Given the description of an element on the screen output the (x, y) to click on. 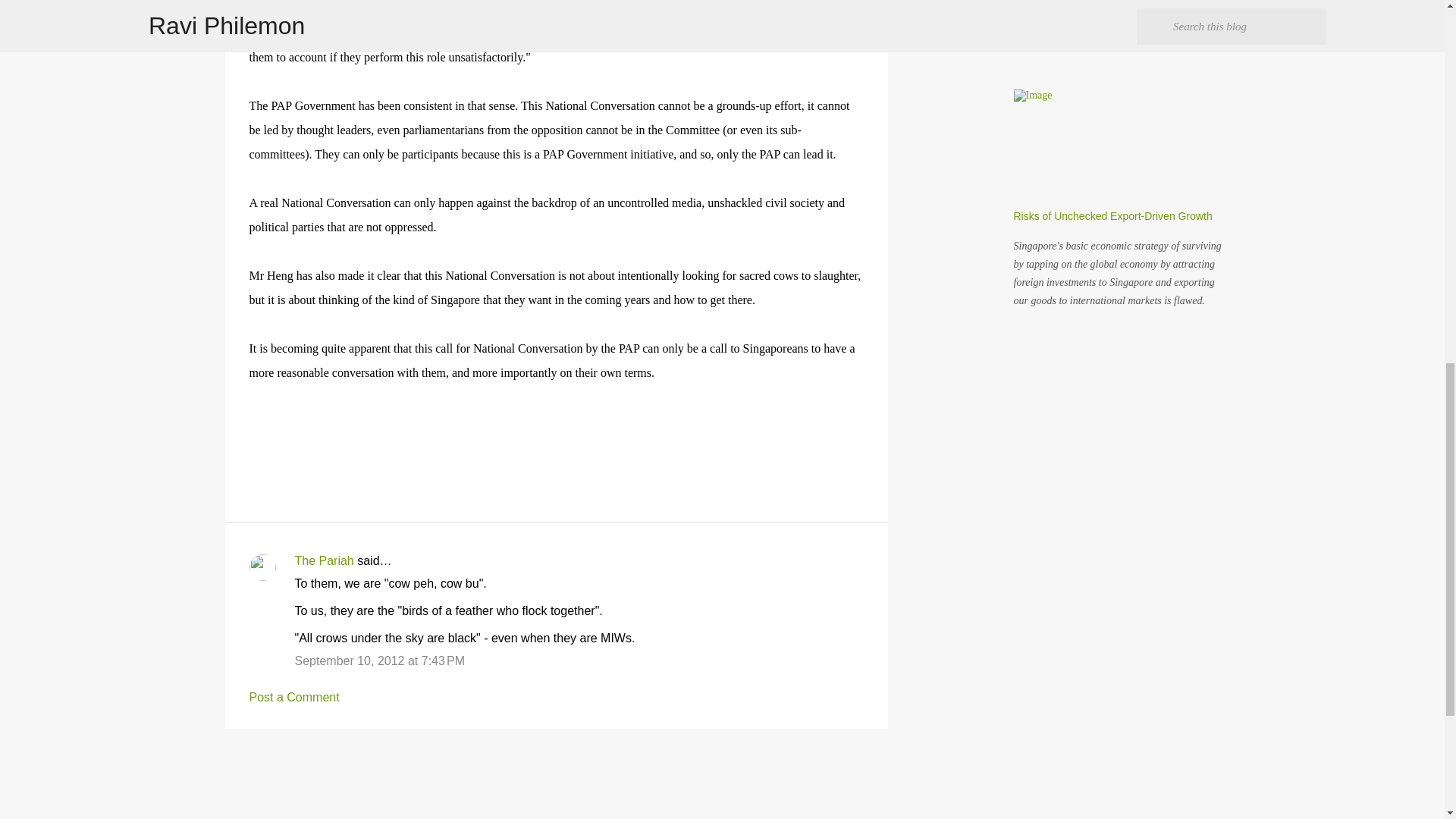
Post a Comment (293, 697)
Email Post (257, 424)
The Pariah (323, 560)
Risks of Unchecked Export-Driven Growth (1112, 215)
comment permalink (379, 660)
